Given the description of an element on the screen output the (x, y) to click on. 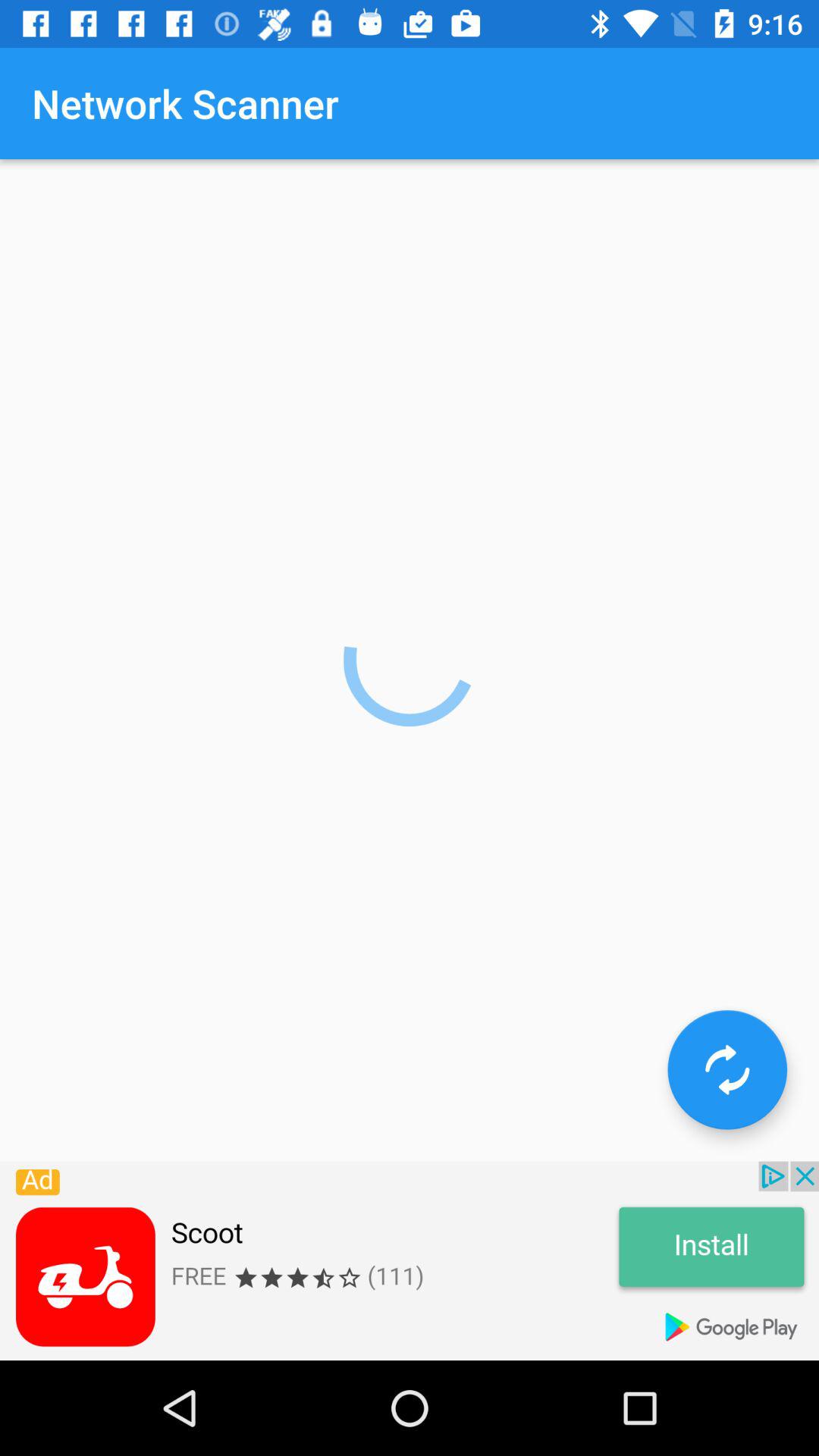
refresh option (727, 1069)
